Given the description of an element on the screen output the (x, y) to click on. 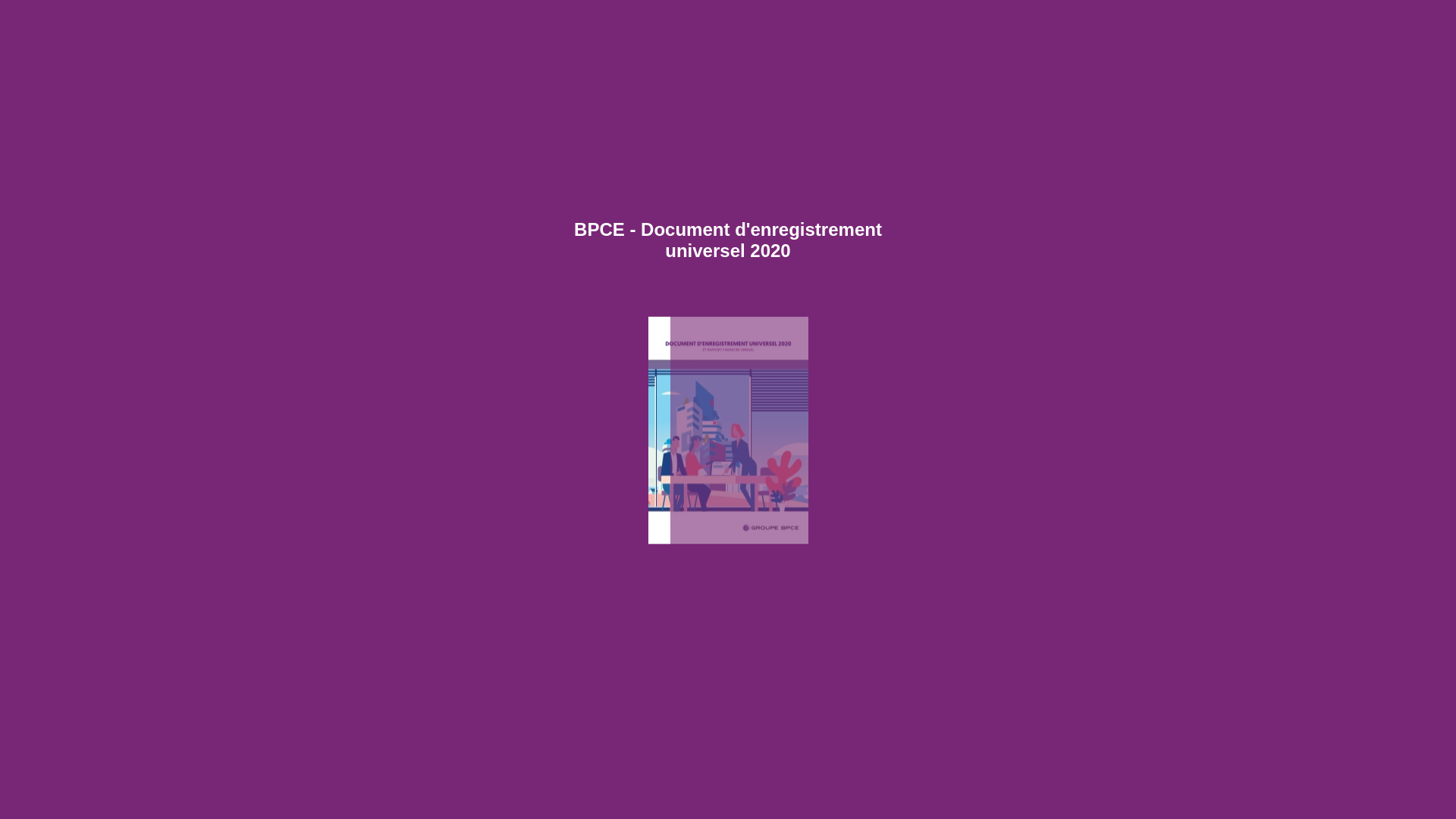
Thumbnails Element type: hover (739, 801)
Print Element type: hover (829, 801)
Add Note Element type: hover (1082, 60)
Last Page Element type: hover (1079, 758)
Share Element type: hover (808, 801)
Next Page Element type: hover (1079, 409)
Search Element type: hover (1435, 16)
Download Element type: hover (850, 801)
Notes Element type: hover (760, 801)
Table of Contents Element type: hover (718, 801)
Fullscreen Element type: hover (918, 801)
Zoom In Element type: hover (897, 801)
